Given the description of an element on the screen output the (x, y) to click on. 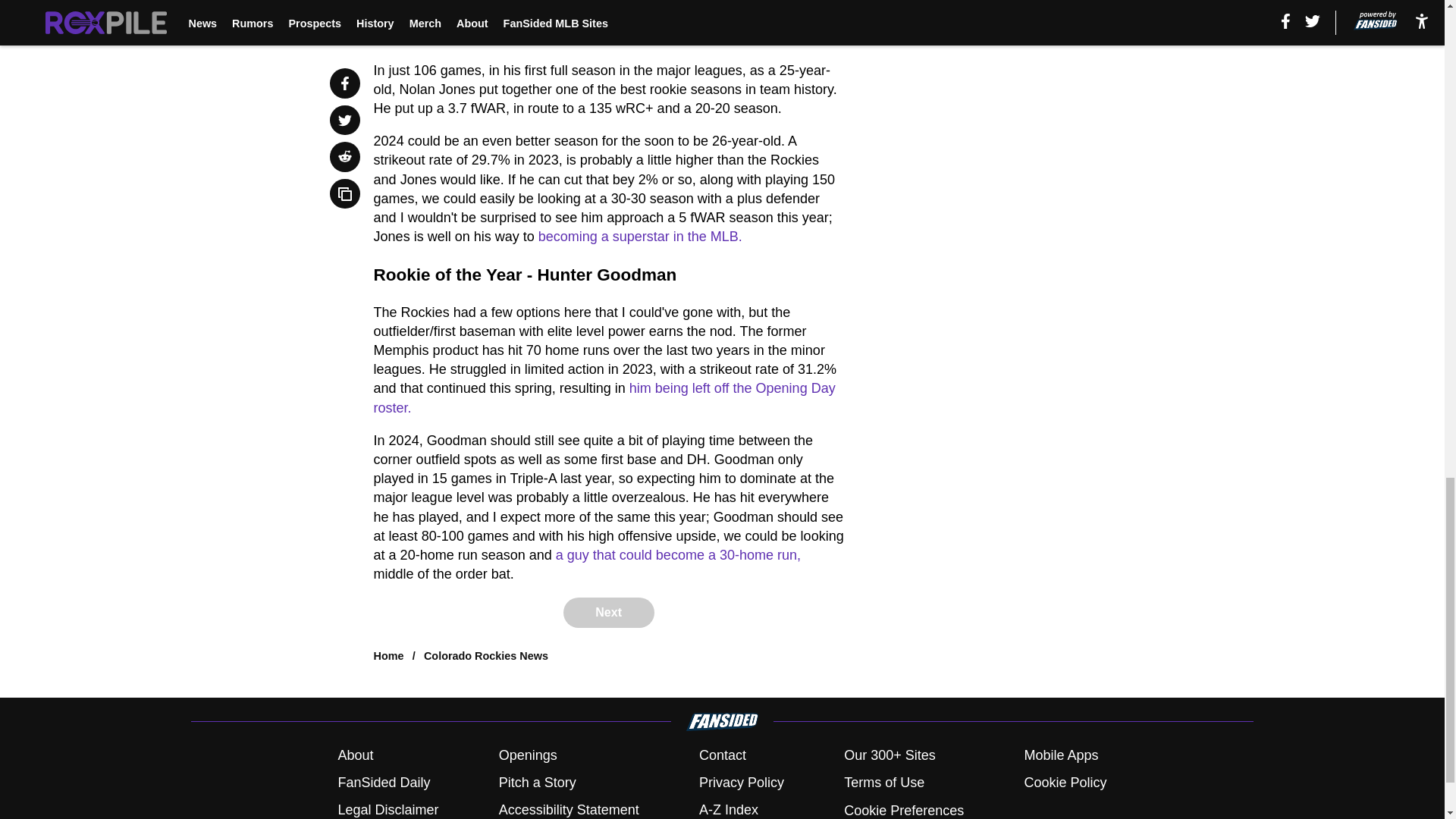
him being left off the Opening Day roster. (604, 397)
a guy that could become a 30-home run, (678, 554)
becoming a superstar in the MLB. (640, 236)
